Given the description of an element on the screen output the (x, y) to click on. 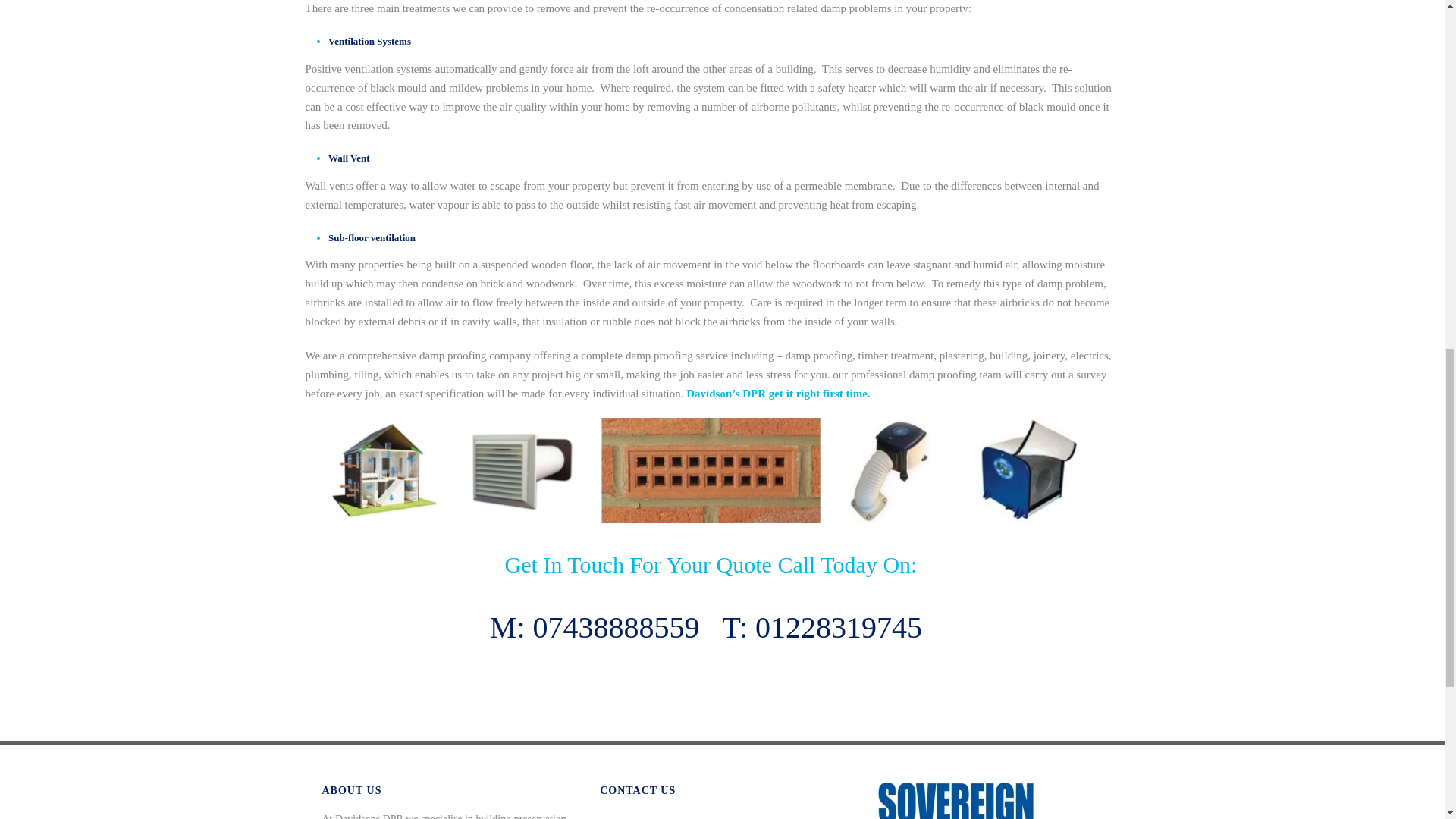
07438888559 (615, 627)
01228319745 (838, 627)
bottom-images (710, 470)
